Given the description of an element on the screen output the (x, y) to click on. 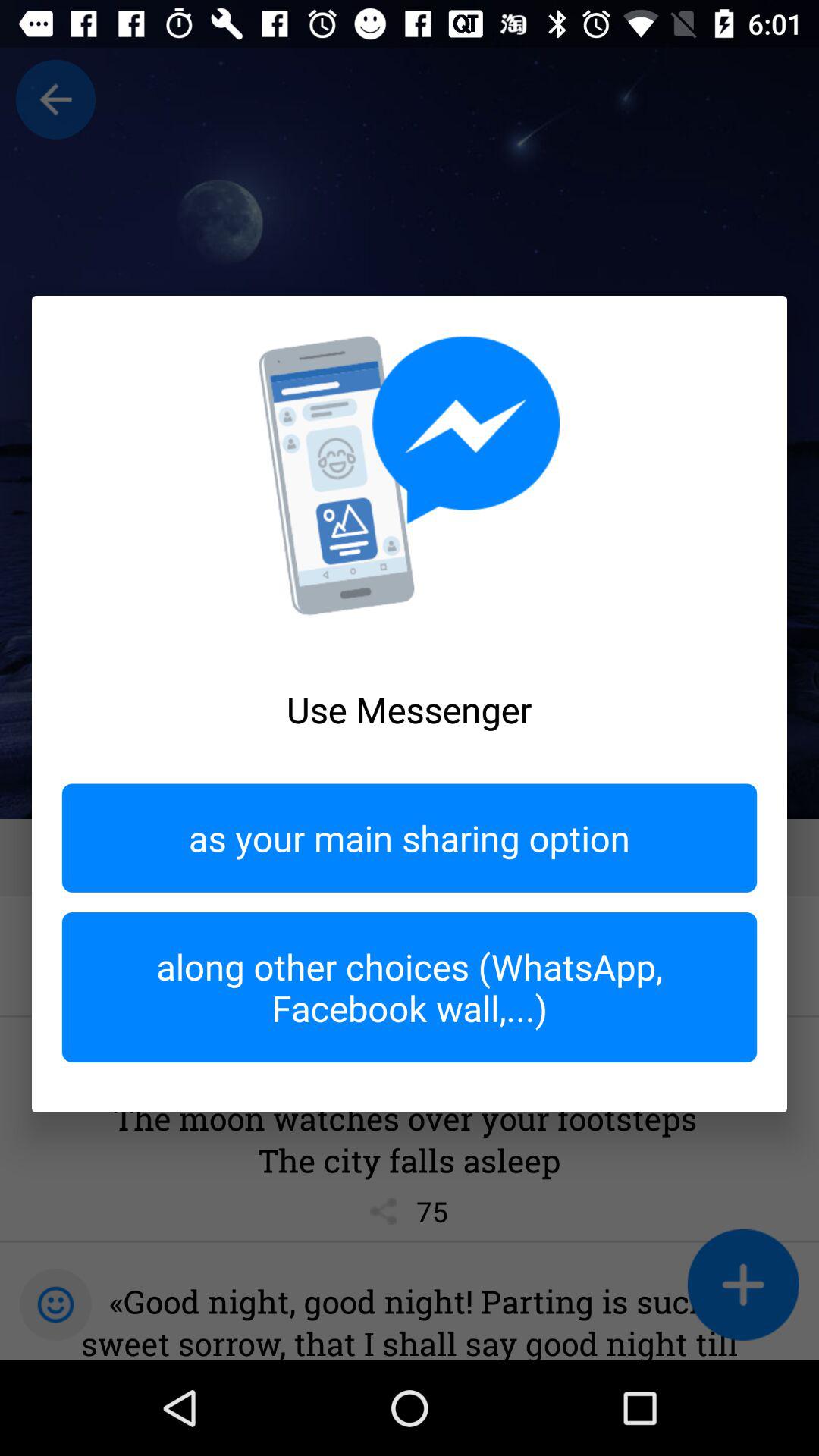
open along other choices at the bottom (409, 987)
